Given the description of an element on the screen output the (x, y) to click on. 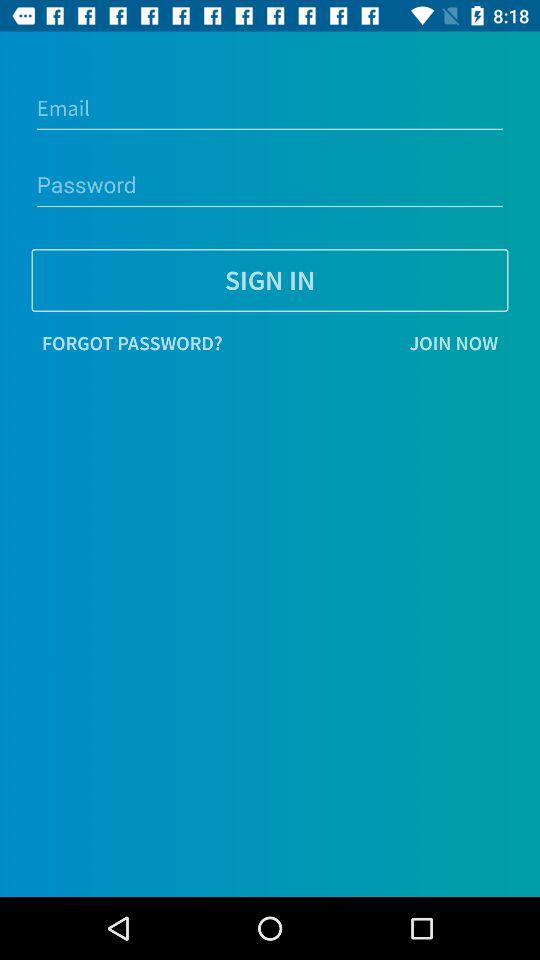
turn off sign in item (269, 280)
